Given the description of an element on the screen output the (x, y) to click on. 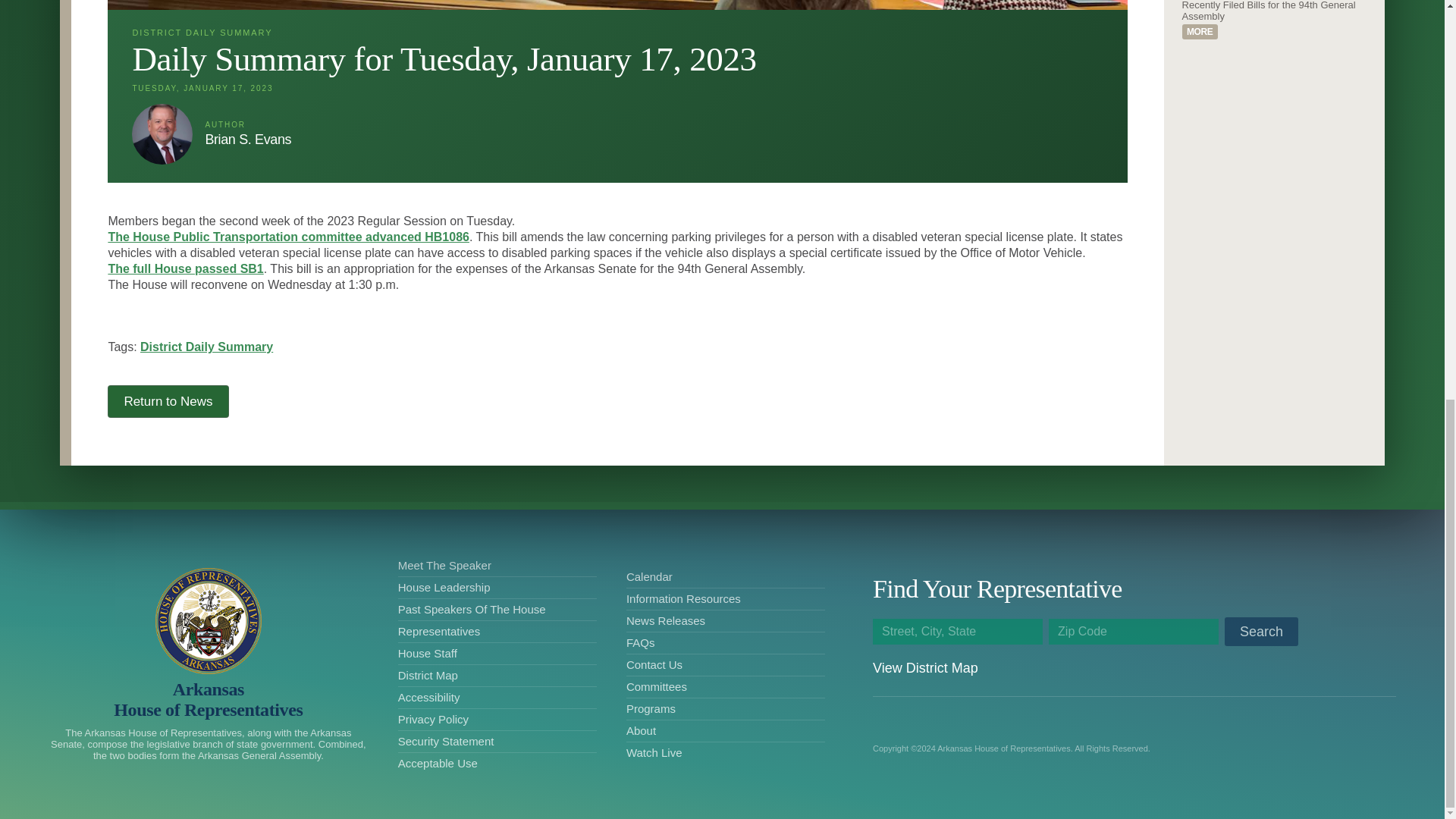
Return to News (167, 400)
Brian S. Evans (248, 139)
District Daily Summary (206, 346)
Permalink (1199, 31)
Back to News (167, 400)
Brian S. Evans (162, 134)
MORE (1199, 31)
Brian S. Evans (248, 139)
View District Map (925, 667)
Brian S. Evans (162, 134)
The House Public Transportation committee advanced HB1086 (287, 236)
The full House passed SB1 (185, 268)
